Given the description of an element on the screen output the (x, y) to click on. 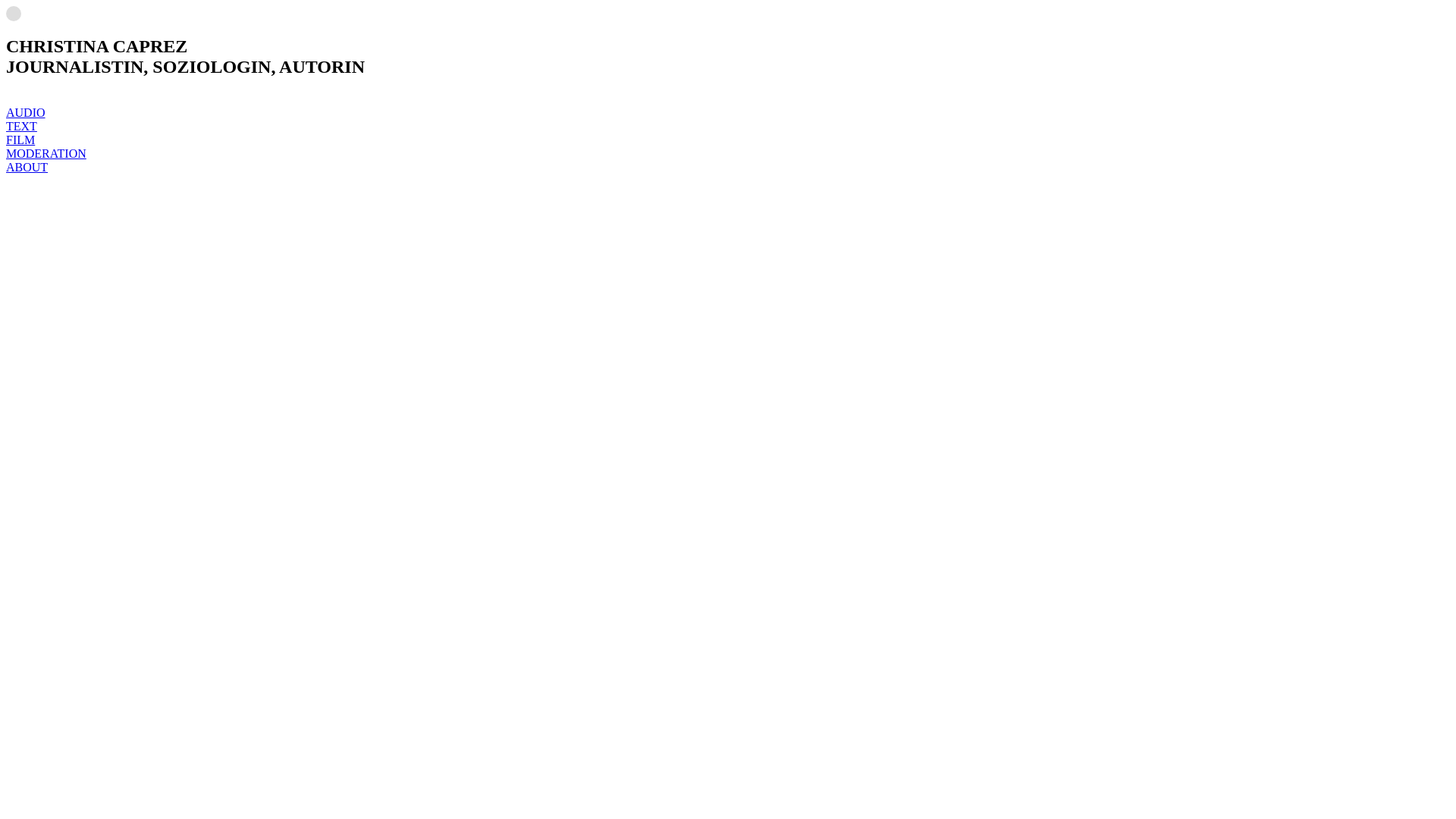
AUDIO Element type: text (25, 112)
FILM Element type: text (20, 139)
ABOUT Element type: text (26, 166)
MODERATION Element type: text (46, 153)
TEXT Element type: text (21, 125)
